Given the description of an element on the screen output the (x, y) to click on. 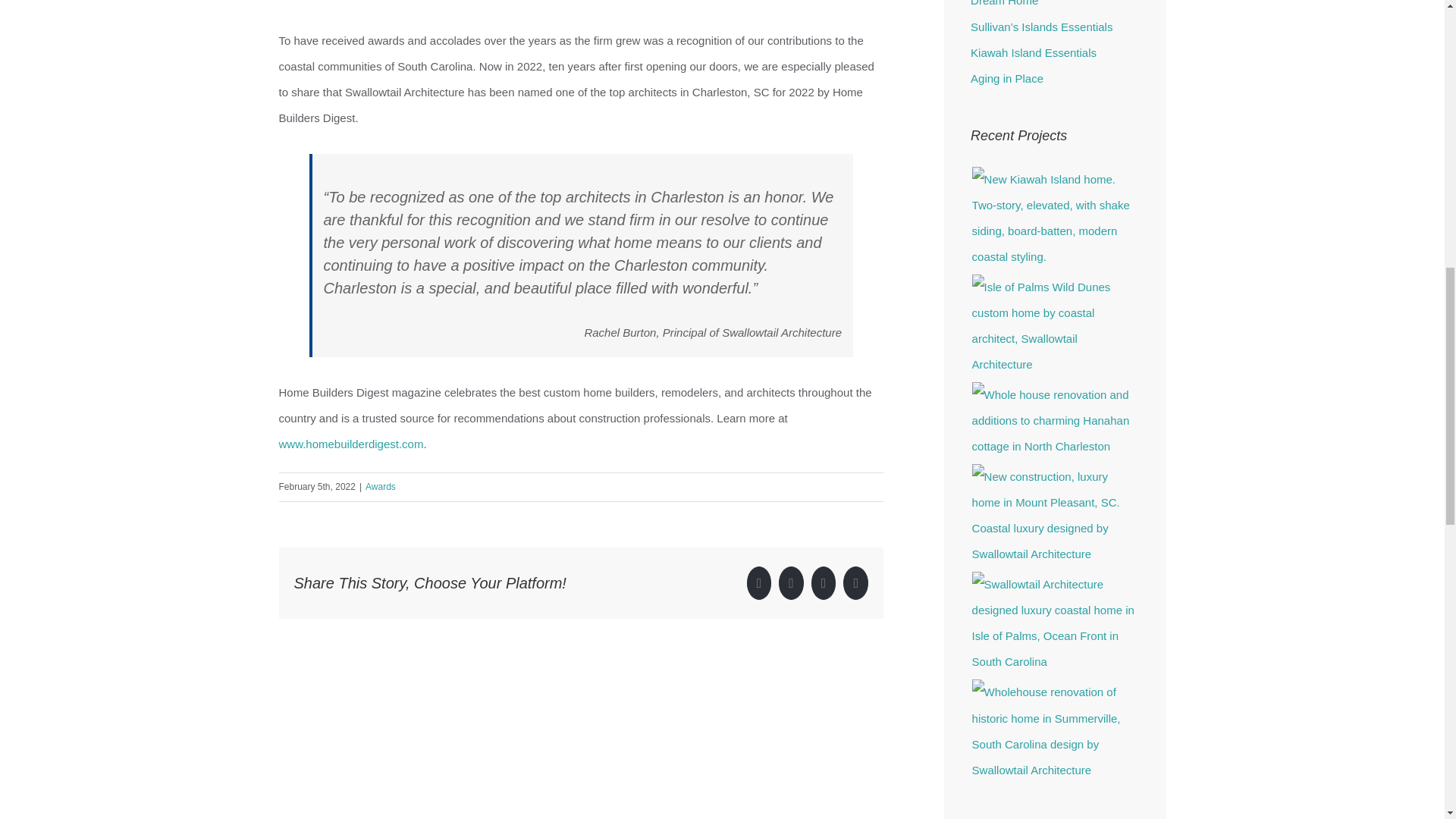
Classic Coastal Kiawah Home (1054, 217)
Aging in Place (1007, 78)
Deep-Water Coastal Family Home Mount Pleasant (1054, 515)
Yeamans Hall Club Cottage Restoration (1054, 420)
Planning Your Lowcountry Dream Home (1036, 3)
www.homebuilderdigest.com (351, 443)
Kiawah Island Essentials (1033, 51)
Historic Summerville Renovation (1054, 730)
Isle of Palms Ocean Front Coastal (1054, 623)
Awards (380, 486)
